Given the description of an element on the screen output the (x, y) to click on. 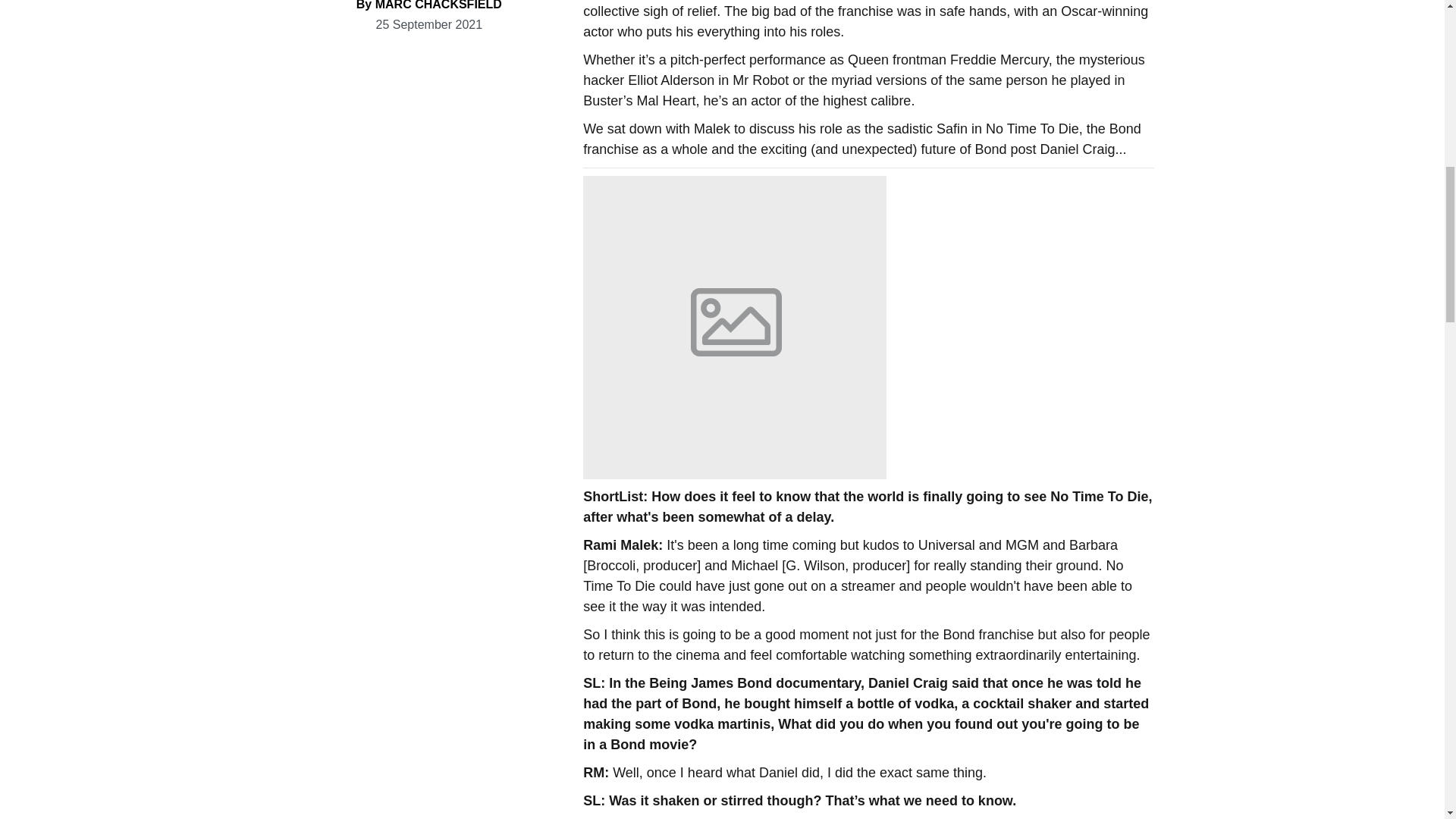
By MARC CHACKSFIELD (429, 5)
